Given the description of an element on the screen output the (x, y) to click on. 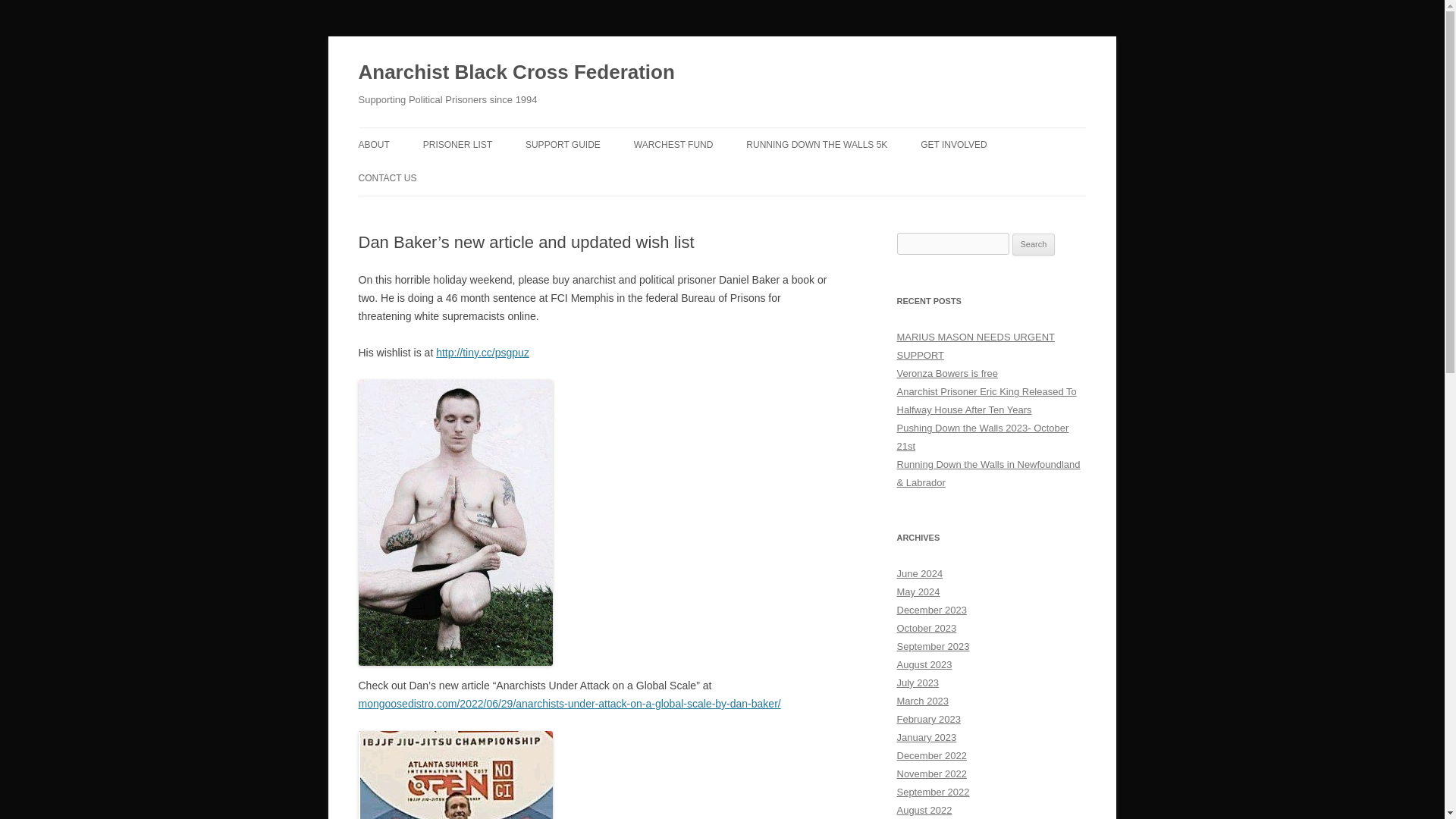
CONTACT US (387, 177)
ABOUT (373, 144)
PRISONER LIST (457, 144)
SUPPORT GUIDE (562, 144)
Anarchist Black Cross Federation (516, 72)
VOLUNTEER (995, 176)
Search (1033, 244)
Anarchist Black Cross Federation (516, 72)
GET INVOLVED (953, 144)
WARCHEST FUND (673, 144)
ABCF CONSTITUTION (433, 176)
RUNNING DOWN THE WALLS 5K (815, 144)
Search (1033, 244)
